Given the description of an element on the screen output the (x, y) to click on. 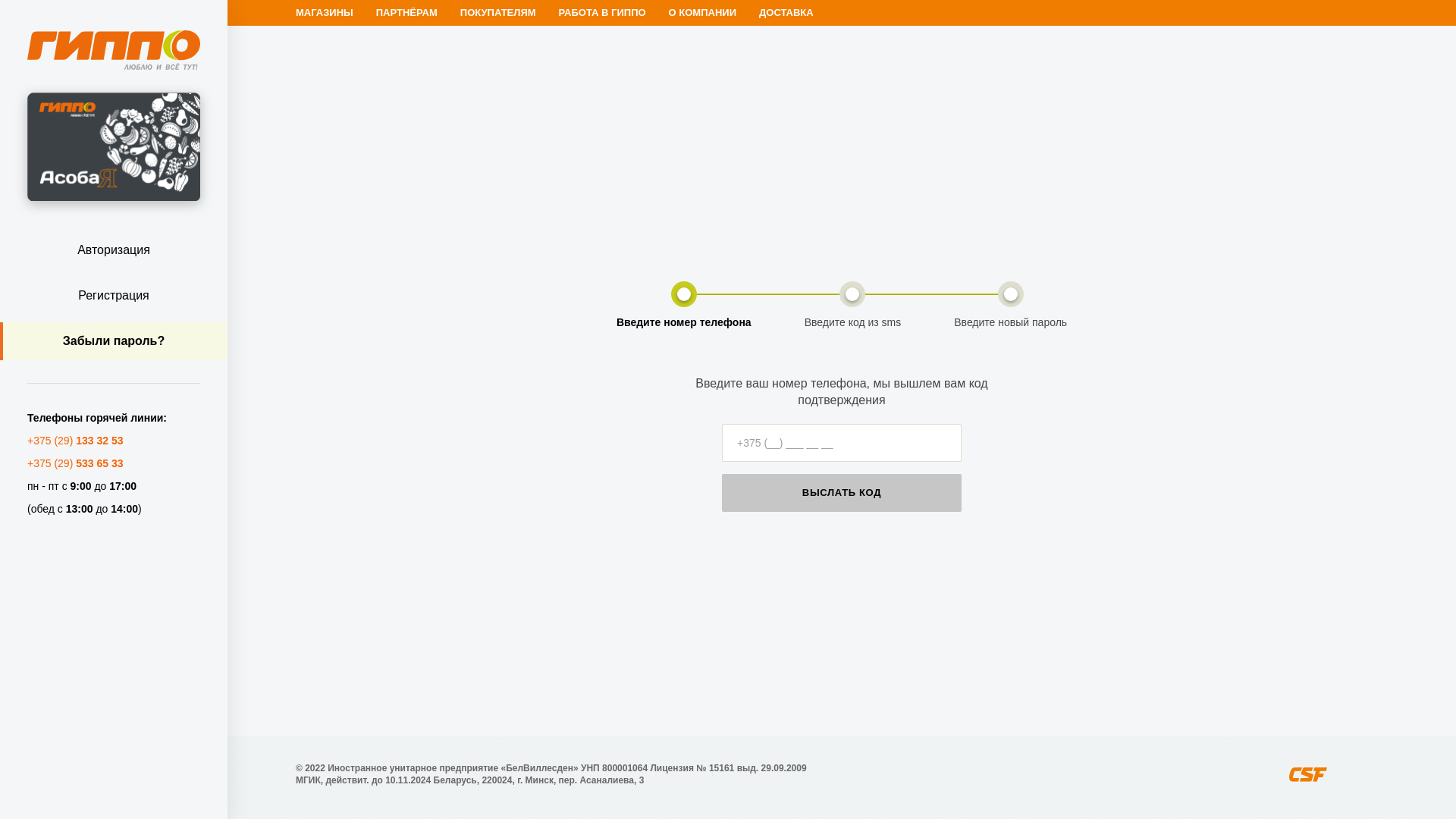
+375 (29) 533 65 33 Element type: text (75, 463)
+375 (29) 133 32 53 Element type: text (75, 440)
